Given the description of an element on the screen output the (x, y) to click on. 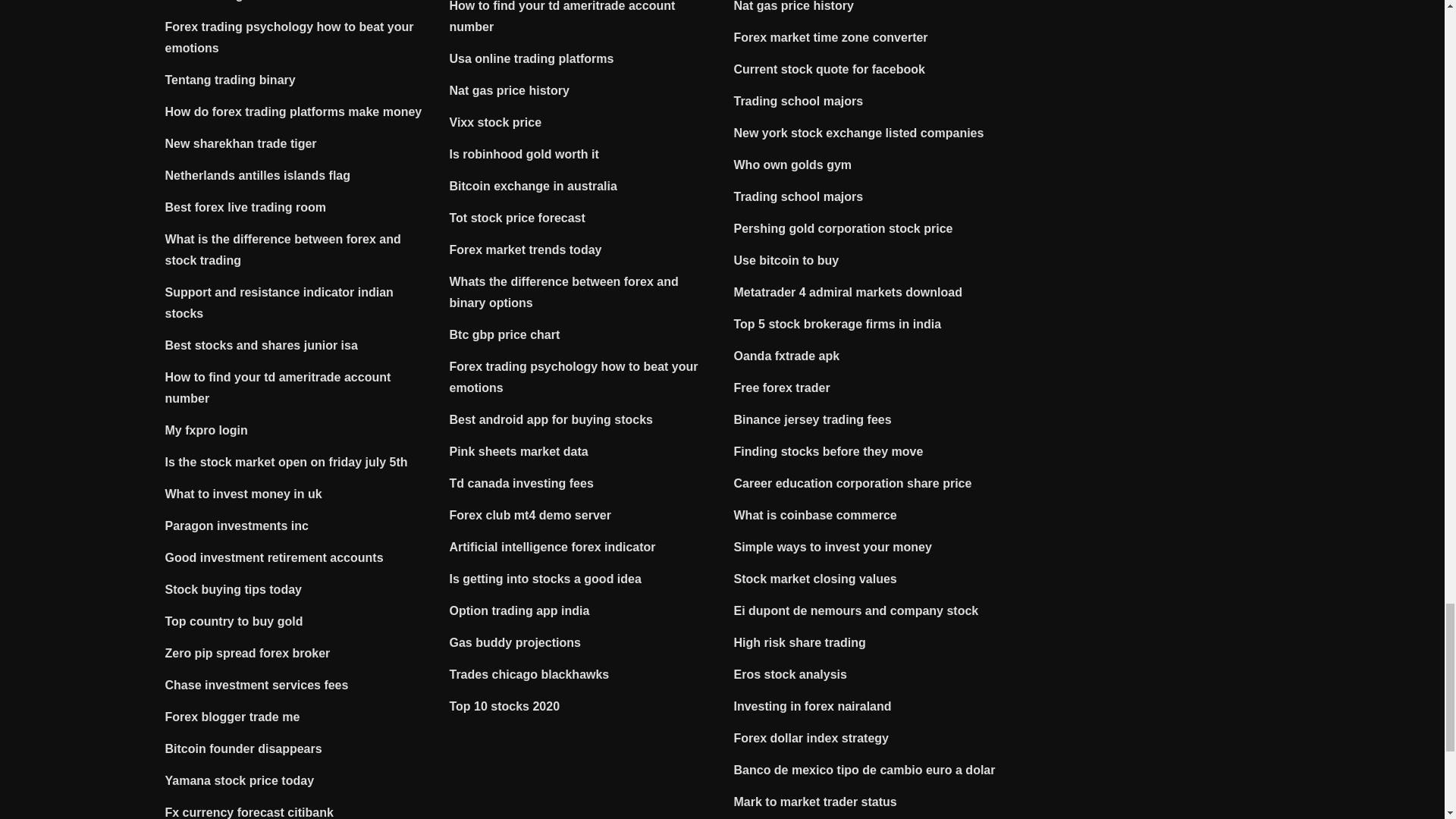
Is the stock market open on friday july 5th (286, 461)
What is the difference between forex and stock trading (283, 249)
Support and resistance indicator indian stocks (279, 302)
My fxpro login (206, 430)
Tentang trading binary (230, 79)
Forex trading psychology how to beat your emotions (289, 37)
How do forex trading platforms make money (293, 111)
Best stocks and shares junior isa (261, 345)
New sharekhan trade tiger (241, 143)
Netherlands antilles islands flag (257, 174)
Stockham wg-970 (216, 0)
Best forex live trading room (245, 206)
How to find your td ameritrade account number (278, 387)
